Given the description of an element on the screen output the (x, y) to click on. 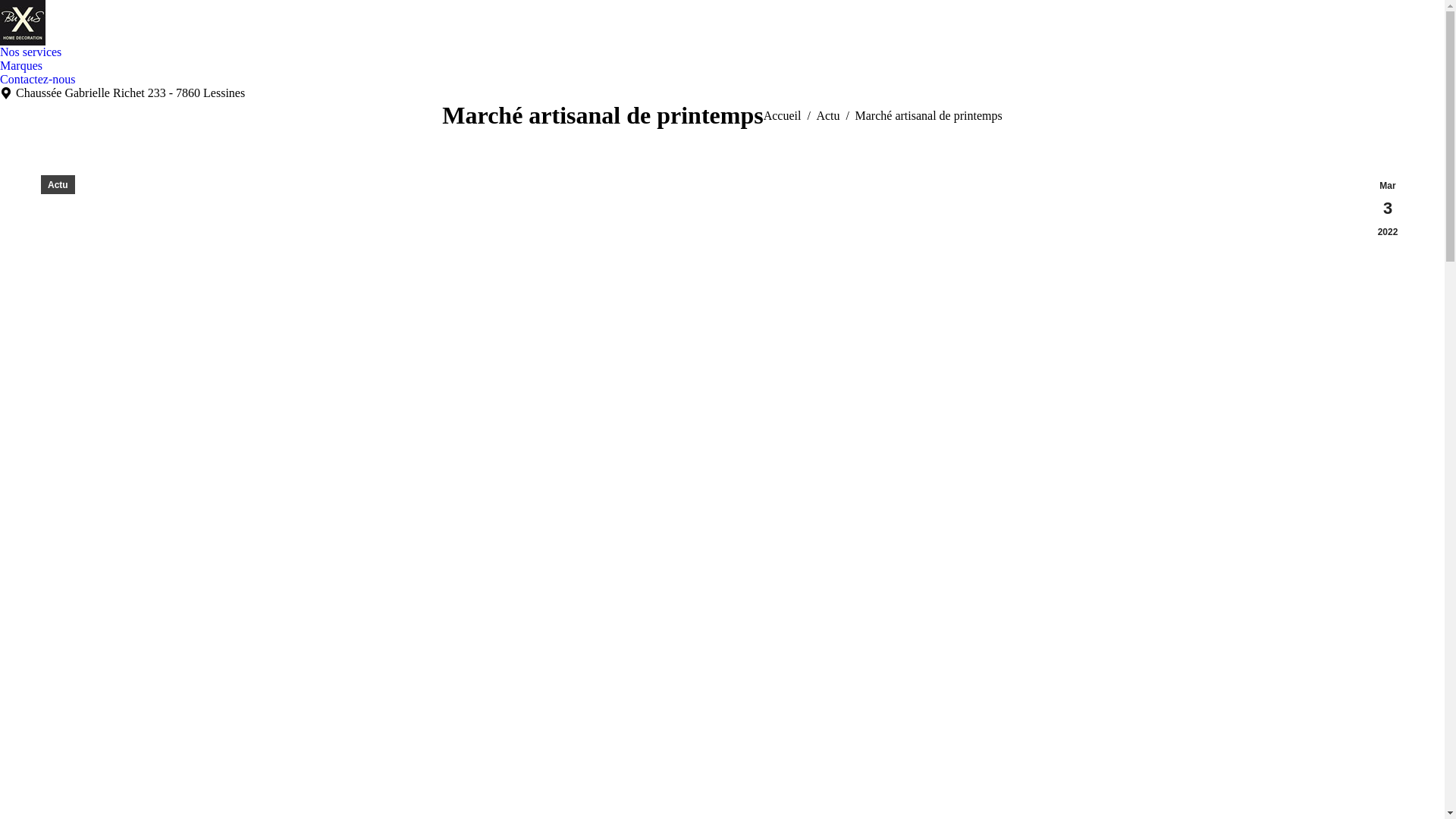
Accueil Element type: text (782, 115)
Actu Element type: text (827, 115)
Mar
3
2022 Element type: text (1387, 208)
Nos services Element type: text (30, 52)
Contactez-nous Element type: text (37, 79)
Marques Element type: text (21, 65)
Actu Element type: text (57, 184)
